Given the description of an element on the screen output the (x, y) to click on. 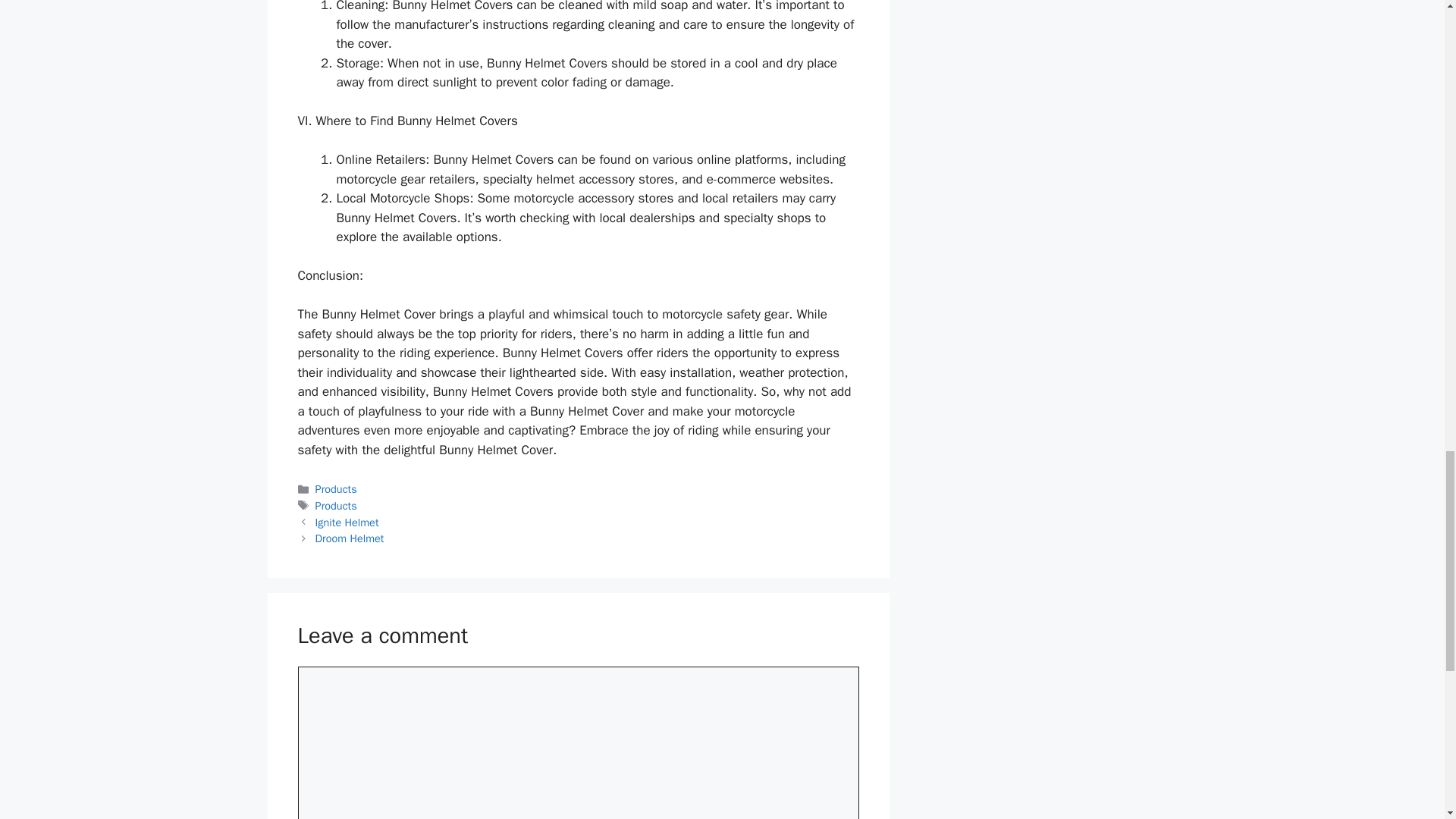
Products (335, 505)
Droom Helmet (349, 538)
Ignite Helmet (346, 522)
Products (335, 489)
